Given the description of an element on the screen output the (x, y) to click on. 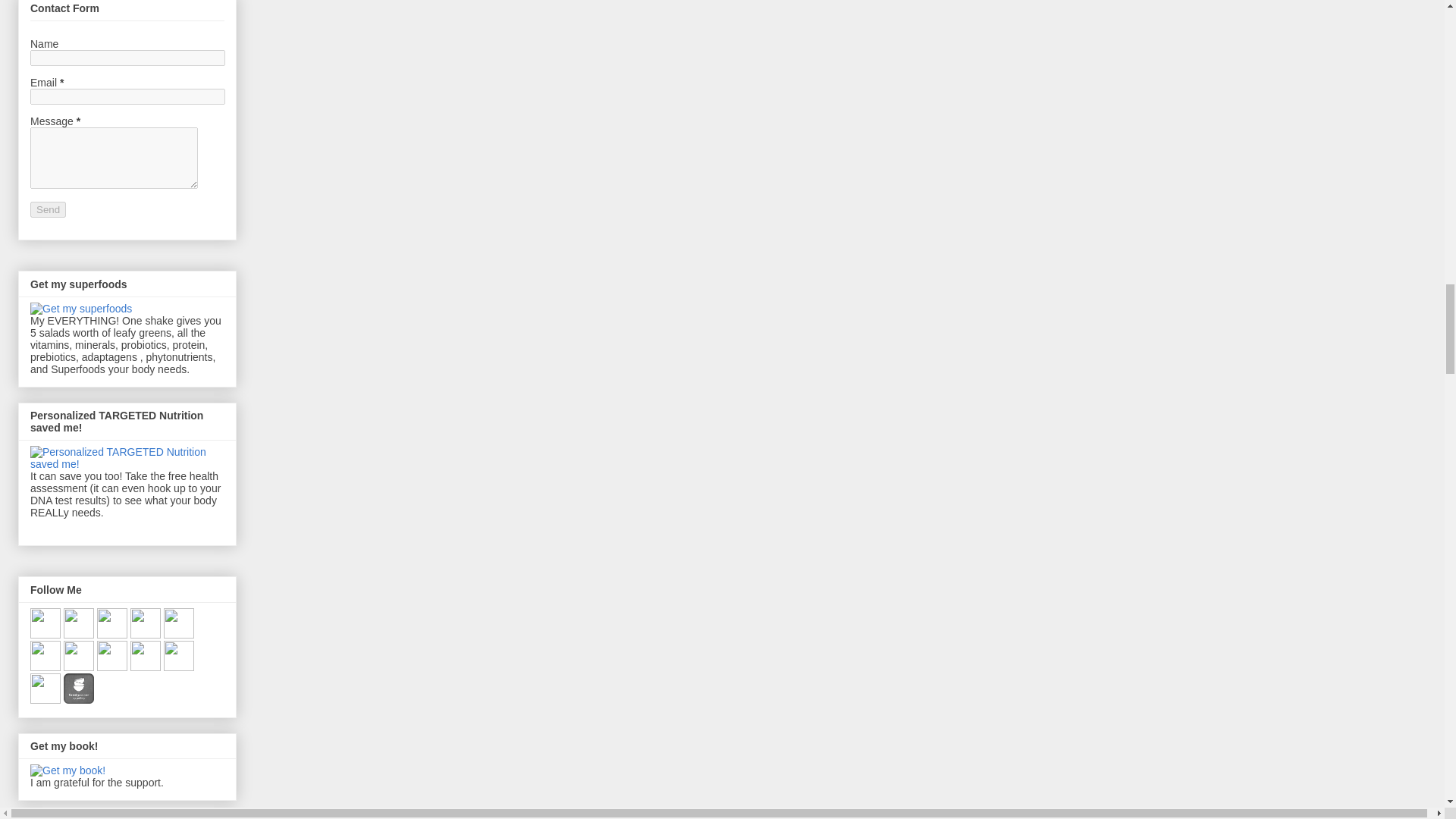
Send (47, 209)
